Given the description of an element on the screen output the (x, y) to click on. 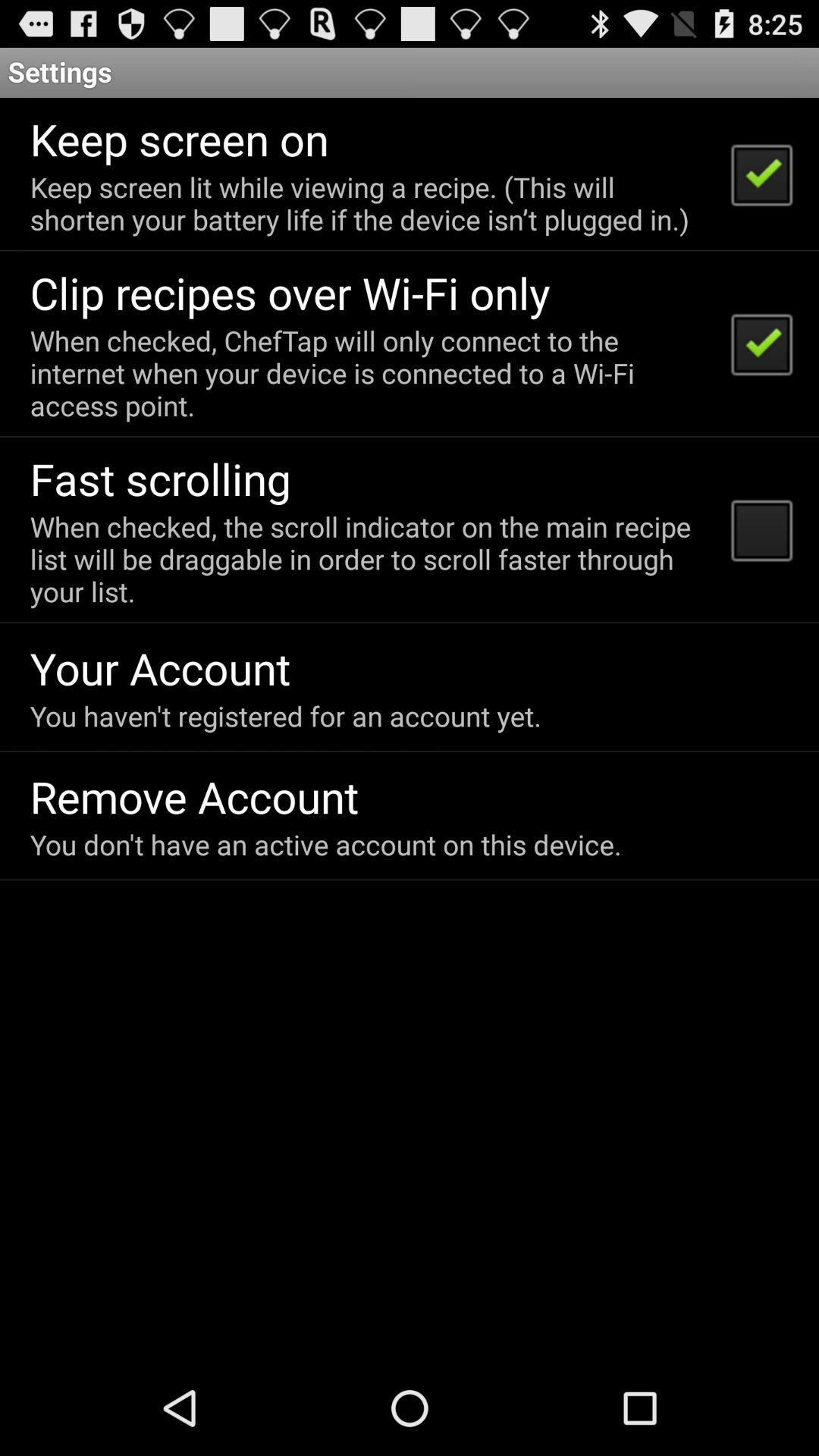
press the app above the when checked cheftap item (289, 292)
